Given the description of an element on the screen output the (x, y) to click on. 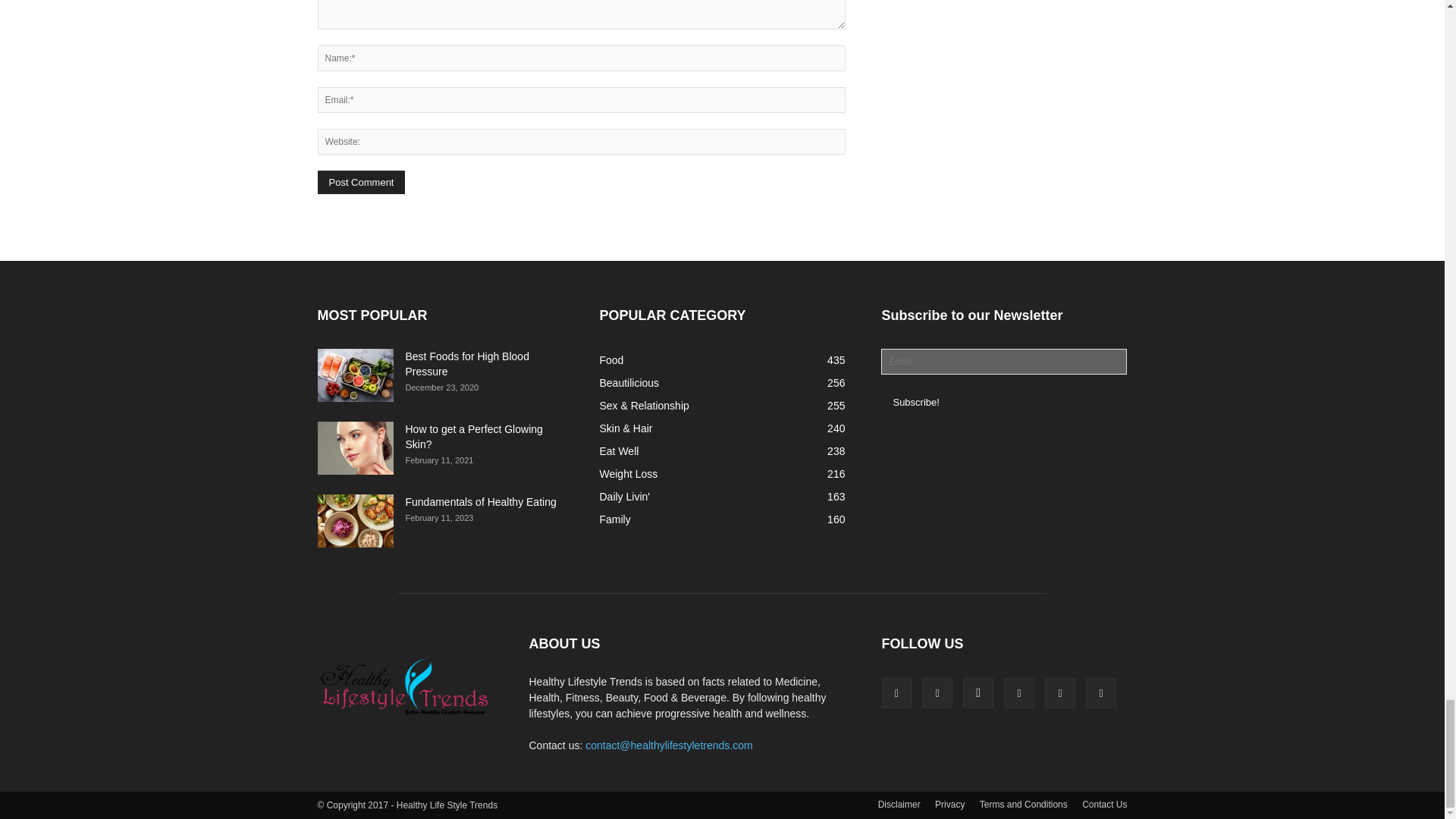
Post Comment (360, 182)
Subscribe! (915, 402)
